Given the description of an element on the screen output the (x, y) to click on. 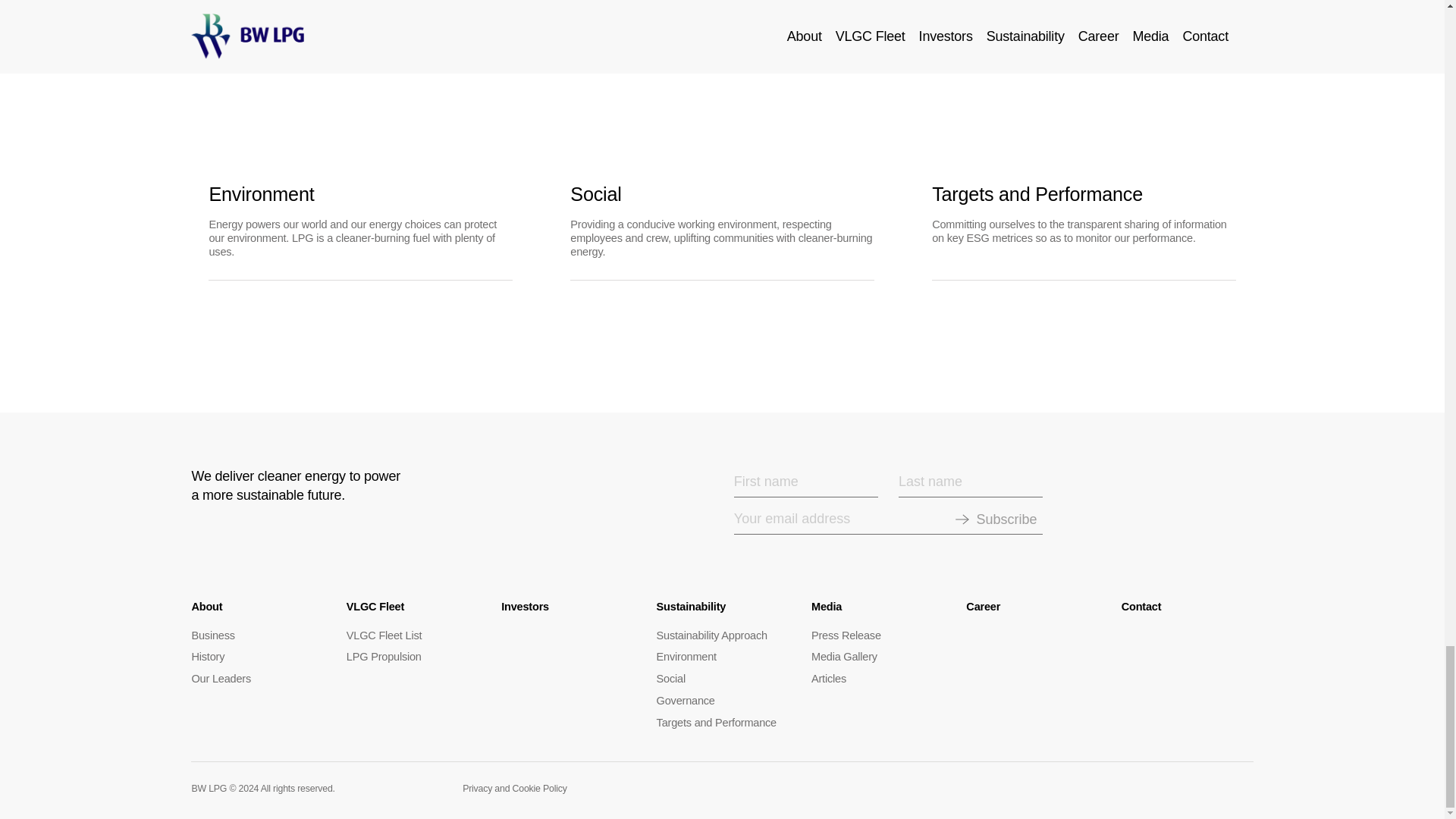
Subscribe (1005, 519)
